Given the description of an element on the screen output the (x, y) to click on. 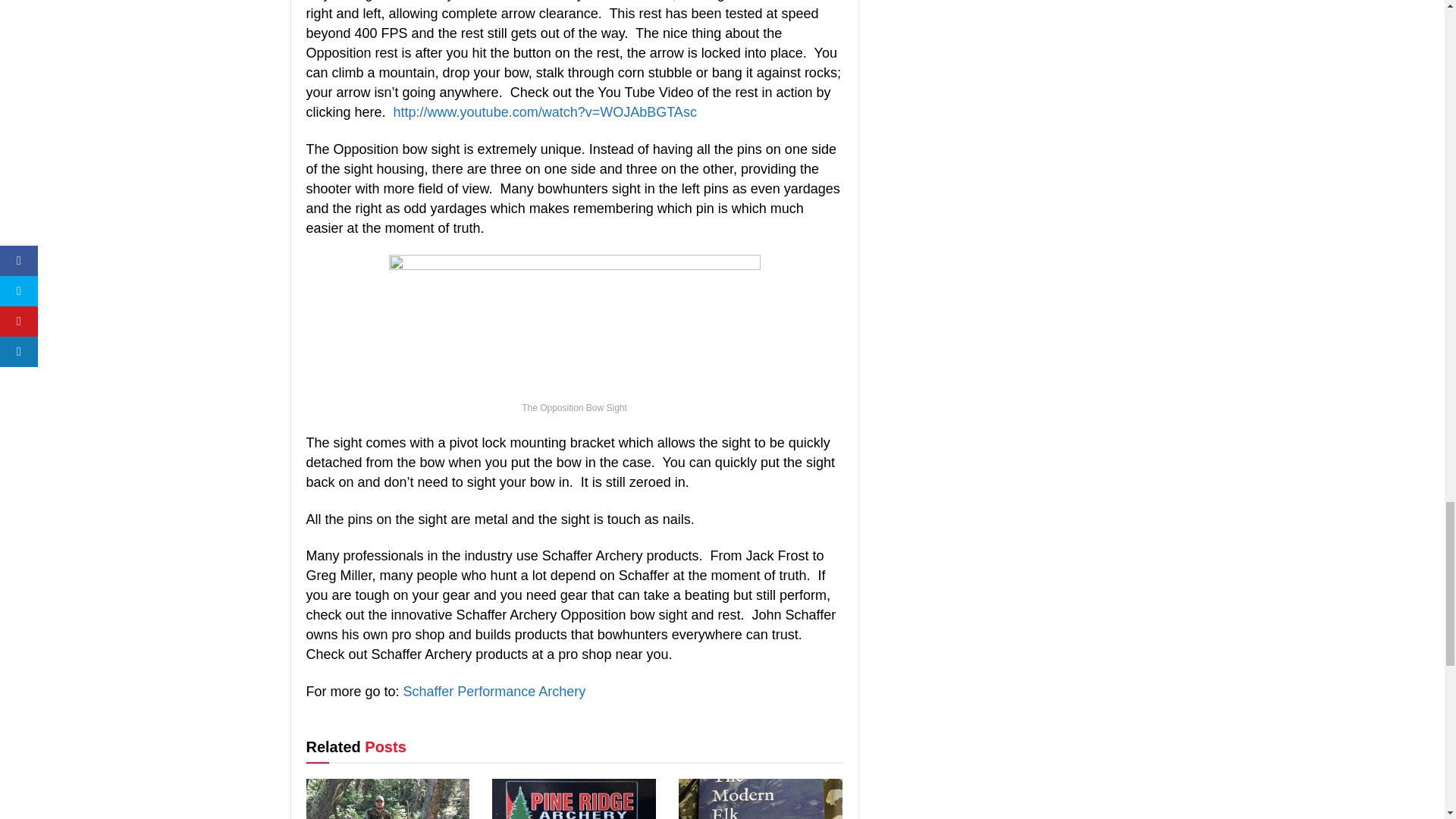
oppS1 (574, 324)
